Given the description of an element on the screen output the (x, y) to click on. 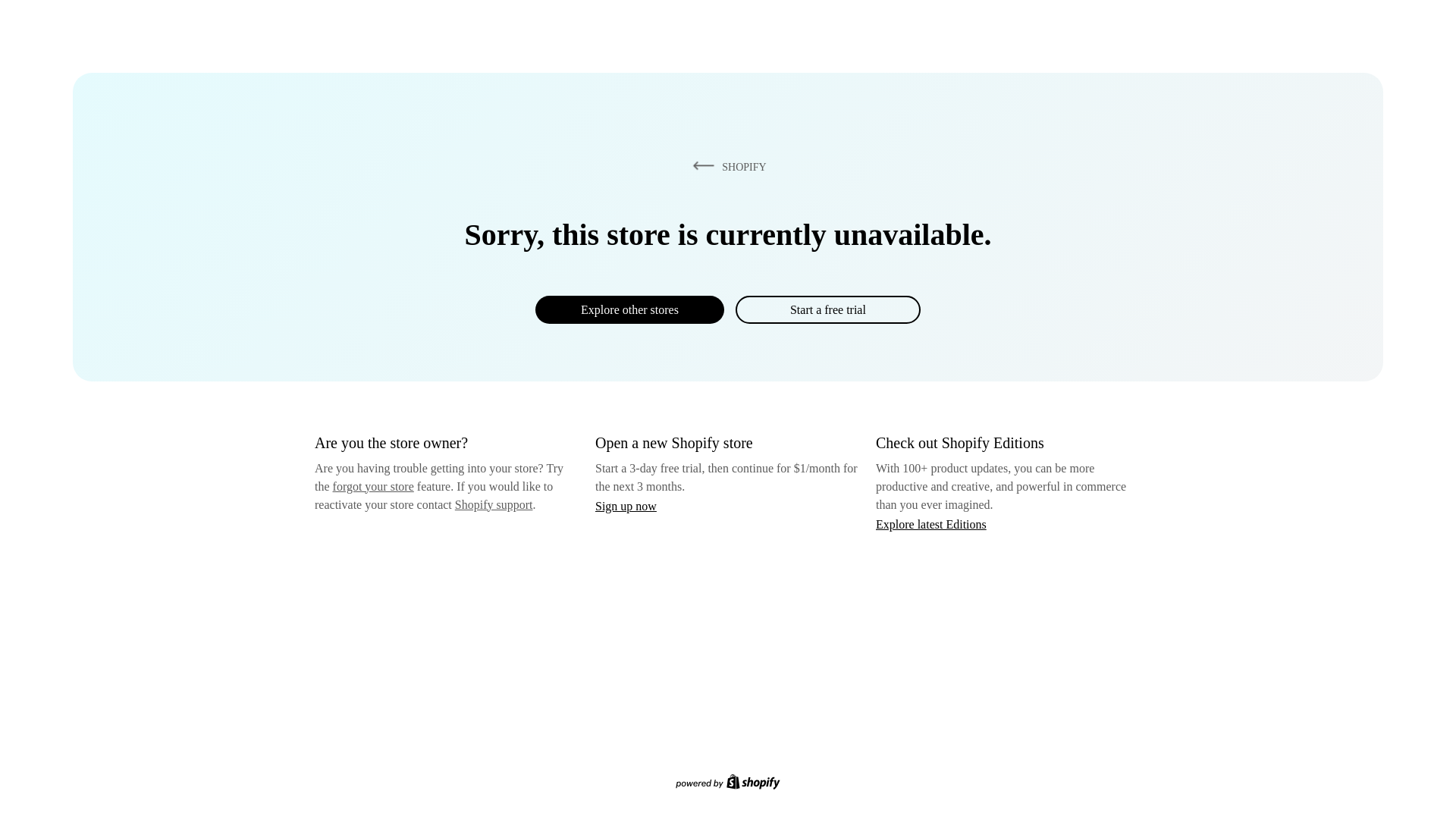
Explore latest Editions (931, 523)
Shopify support (493, 504)
Sign up now (625, 505)
forgot your store (373, 486)
Explore other stores (629, 309)
SHOPIFY (726, 166)
Start a free trial (827, 309)
